Given the description of an element on the screen output the (x, y) to click on. 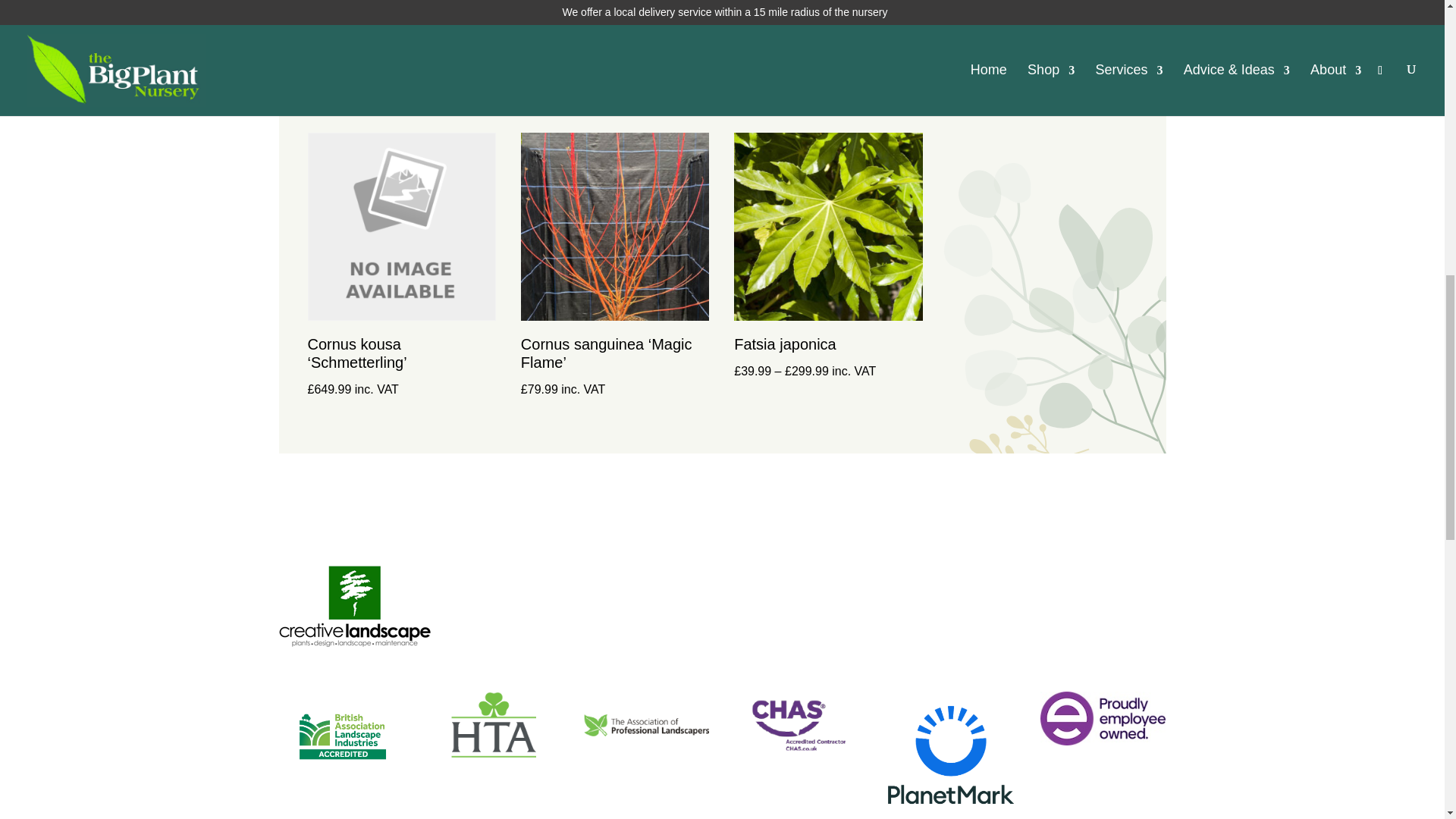
BALI Accredited primary logo (341, 736)
hta (493, 724)
creative-landscape-logo (354, 606)
aol (646, 724)
chas (798, 724)
